Given the description of an element on the screen output the (x, y) to click on. 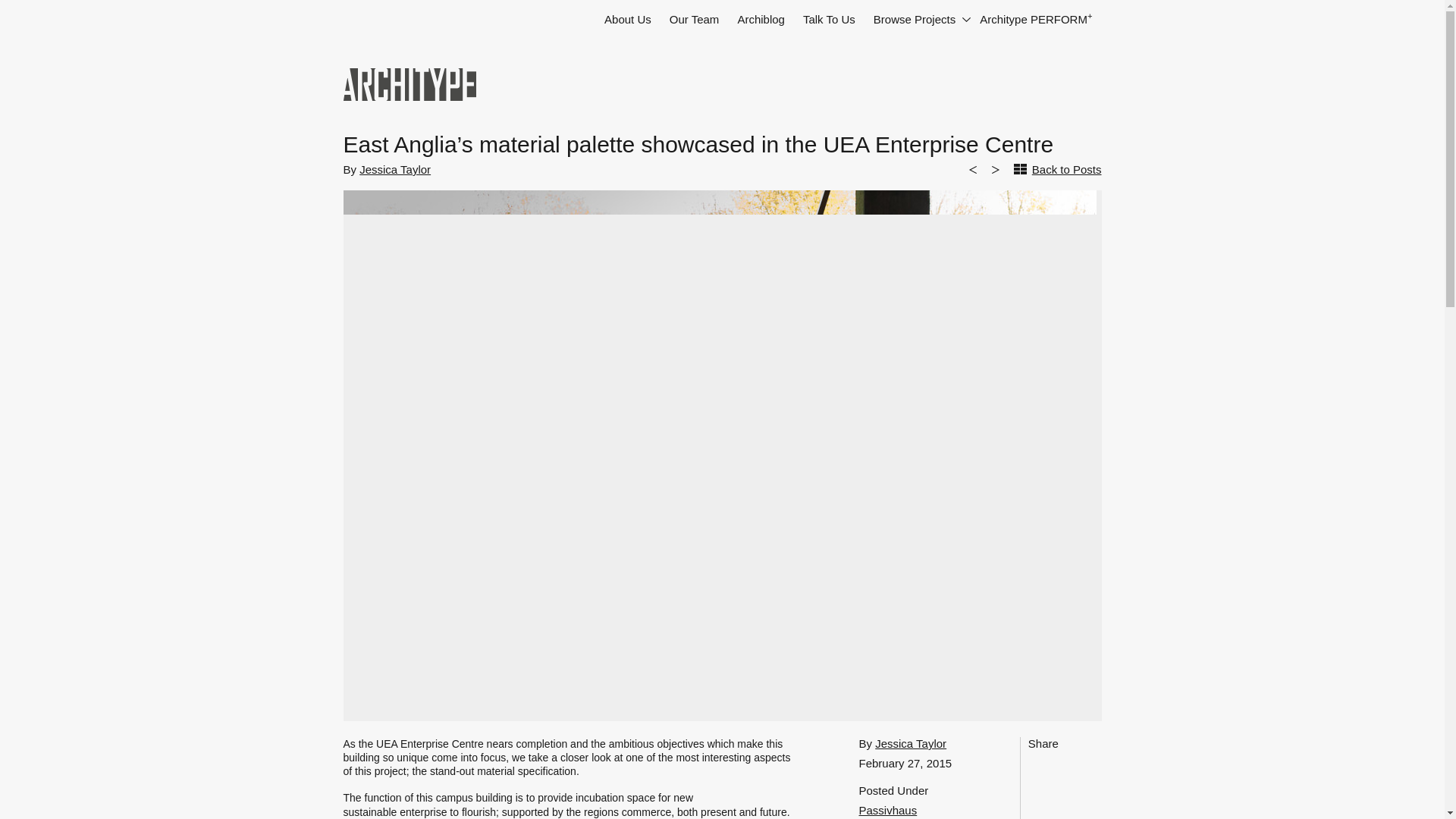
Archiblog (760, 19)
About Us (628, 19)
Browse Buildings (917, 19)
Browse Projects (917, 19)
Posts by Jessica Taylor (910, 743)
Posts by Jessica Taylor (394, 169)
Our Team (695, 19)
Talk To Us (828, 19)
What We're Doing (760, 19)
